Given the description of an element on the screen output the (x, y) to click on. 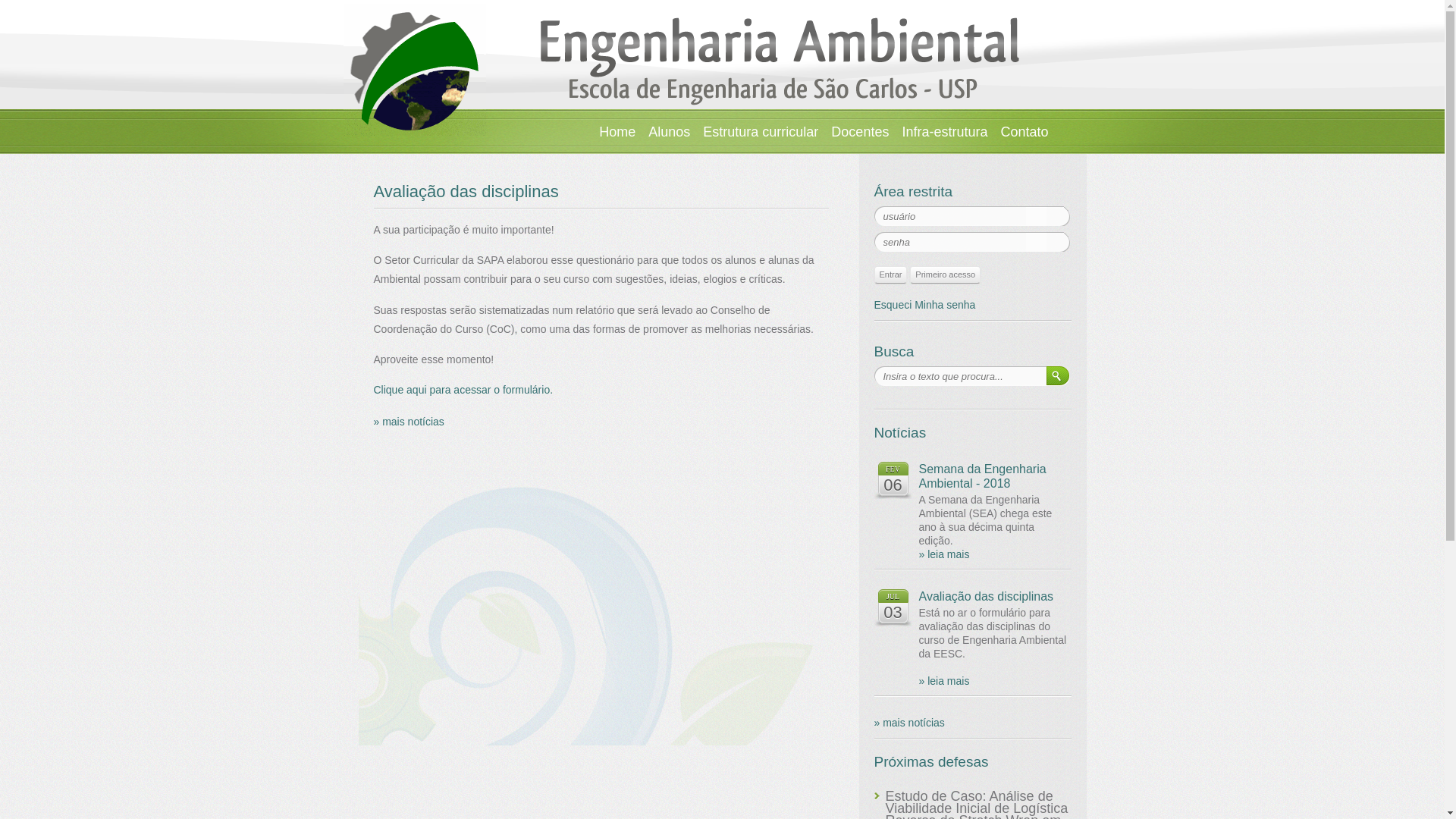
Entrar Element type: text (889, 274)
Docentes Element type: text (859, 131)
Estrutura curricular Element type: text (760, 131)
Infra-estrutura Element type: text (944, 131)
Semana da Engenharia Ambiental - 2018 Element type: text (995, 475)
Esqueci Minha senha Element type: text (924, 304)
Home Element type: text (617, 131)
Alunos Element type: text (669, 131)
Contato Element type: text (1024, 131)
Engenharia Ambiental Element type: text (413, 69)
search Element type: hover (1052, 376)
